Given the description of an element on the screen output the (x, y) to click on. 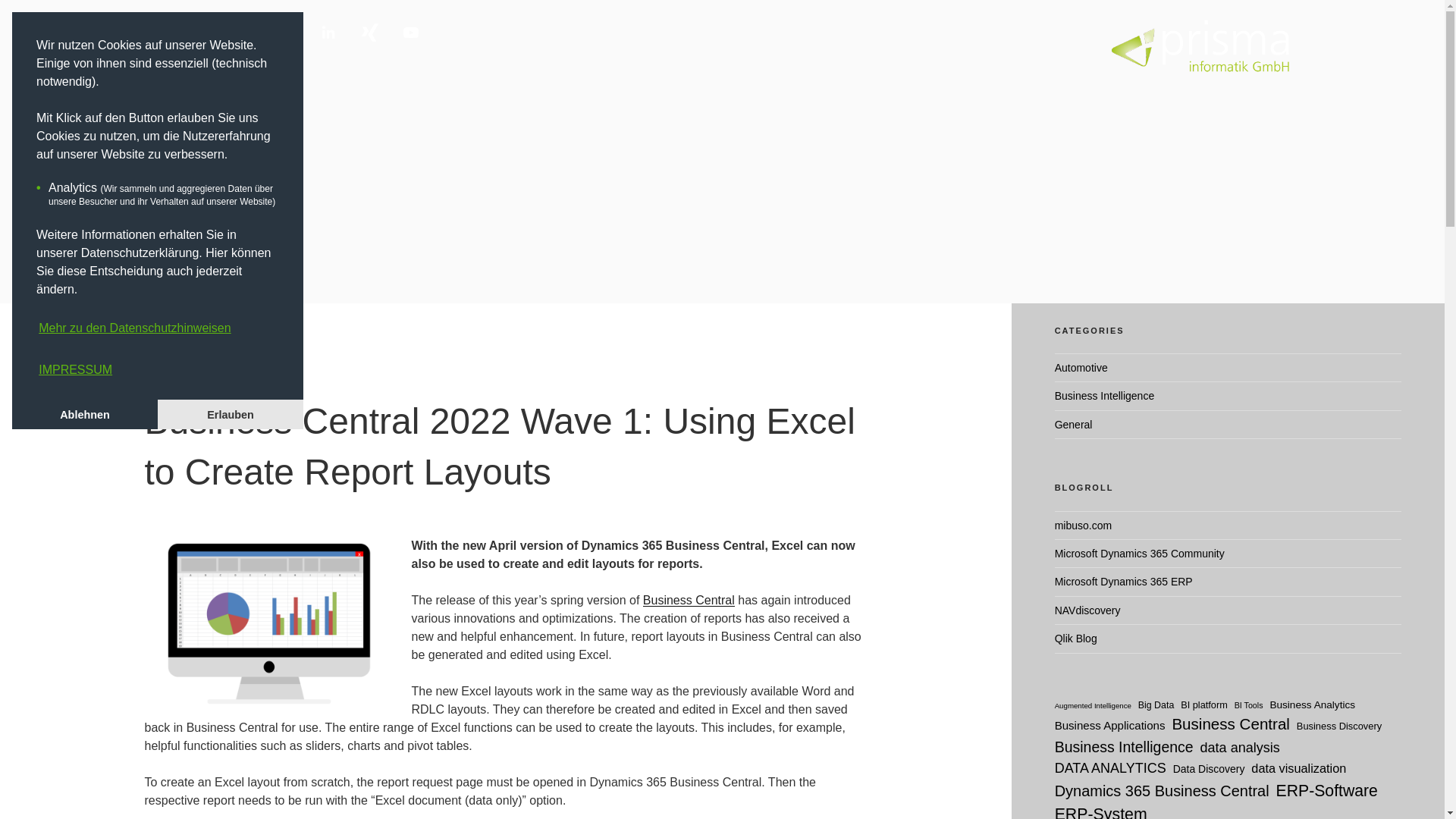
Official Microsoft Dynamics 365 ERP-Website (1123, 581)
Business Central Excel Report Layout (268, 617)
IMPRESSUM (75, 368)
Business Central (689, 599)
Erlauben (229, 414)
Ablehnen (84, 414)
Mehr zu den Datenschutzhinweisen (134, 327)
